Given the description of an element on the screen output the (x, y) to click on. 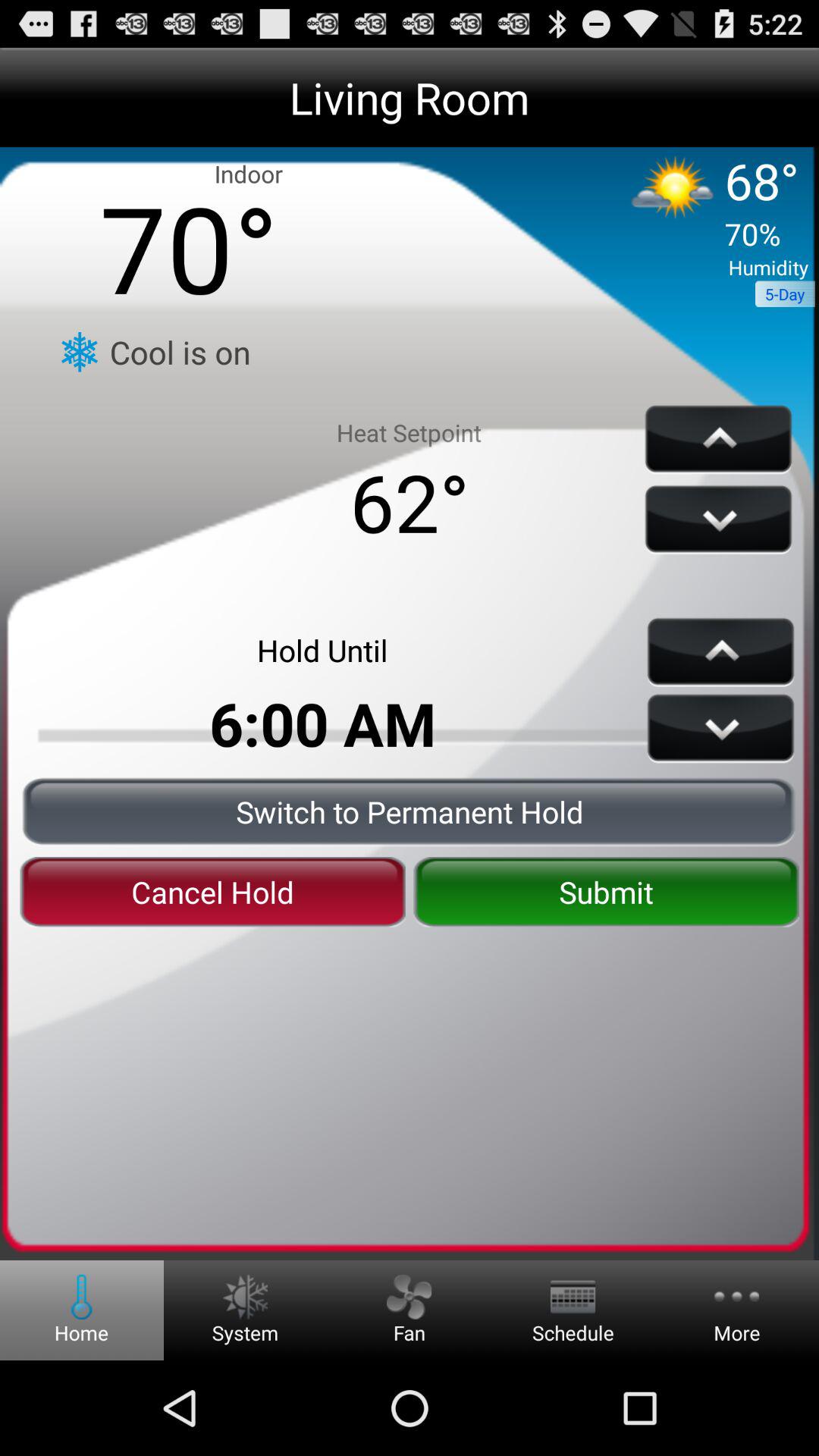
select the icon which is just above the system (244, 1297)
click on submit (606, 892)
